Given the description of an element on the screen output the (x, y) to click on. 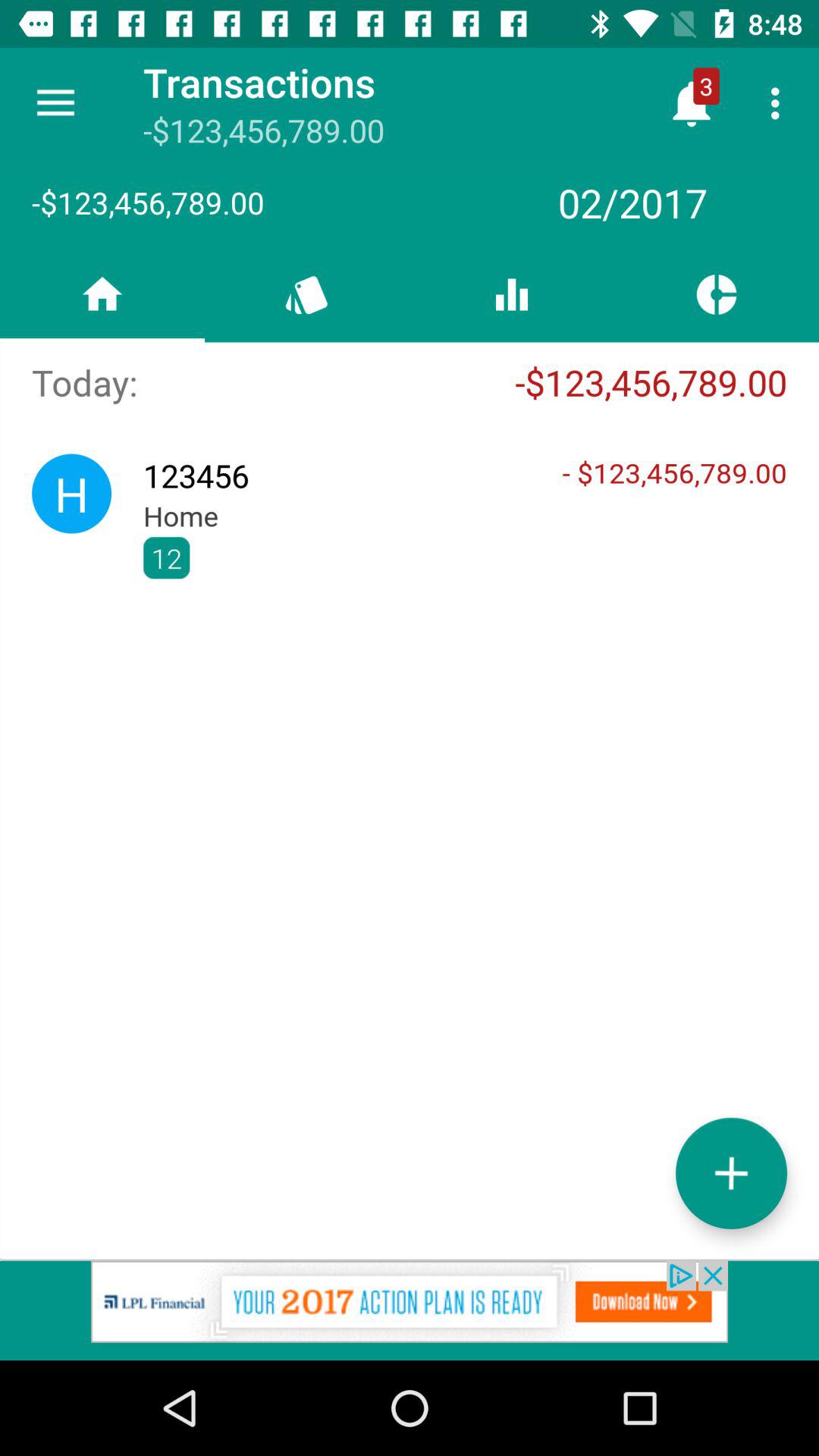
an advertisement (409, 1310)
